Given the description of an element on the screen output the (x, y) to click on. 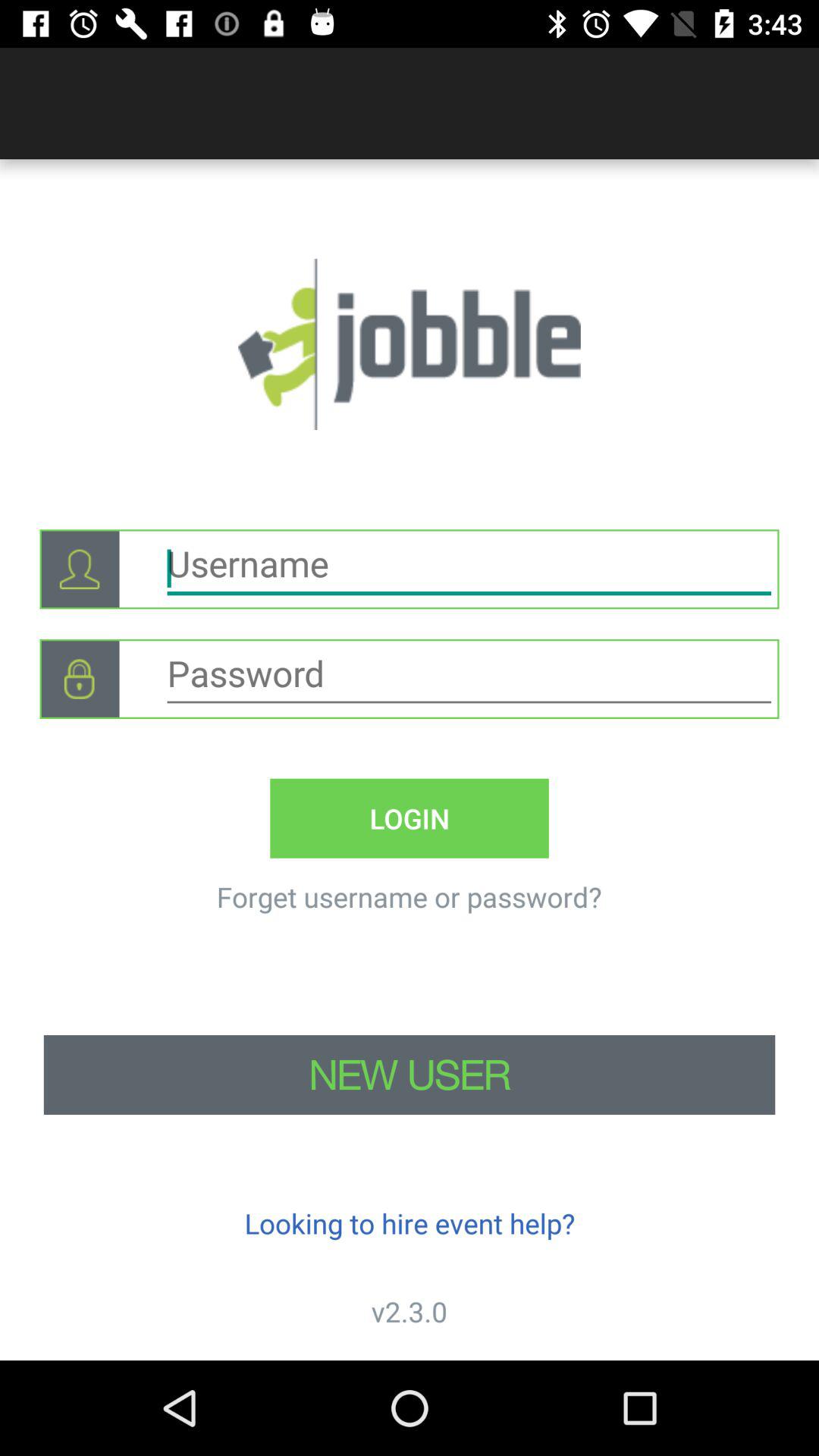
swipe until the login item (409, 818)
